Given the description of an element on the screen output the (x, y) to click on. 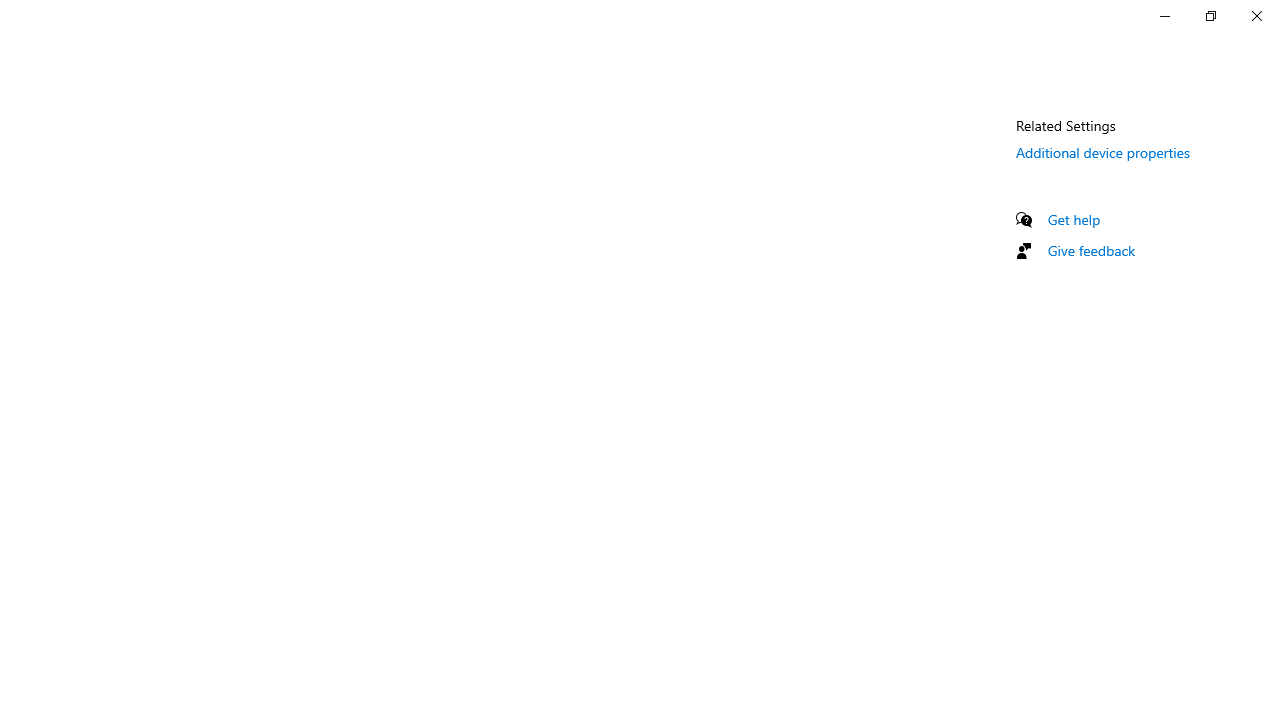
Minimize Settings (1164, 15)
Get help (1074, 219)
Restore Settings (1210, 15)
Give feedback (1091, 250)
Close Settings (1256, 15)
Additional device properties (1103, 152)
